Given the description of an element on the screen output the (x, y) to click on. 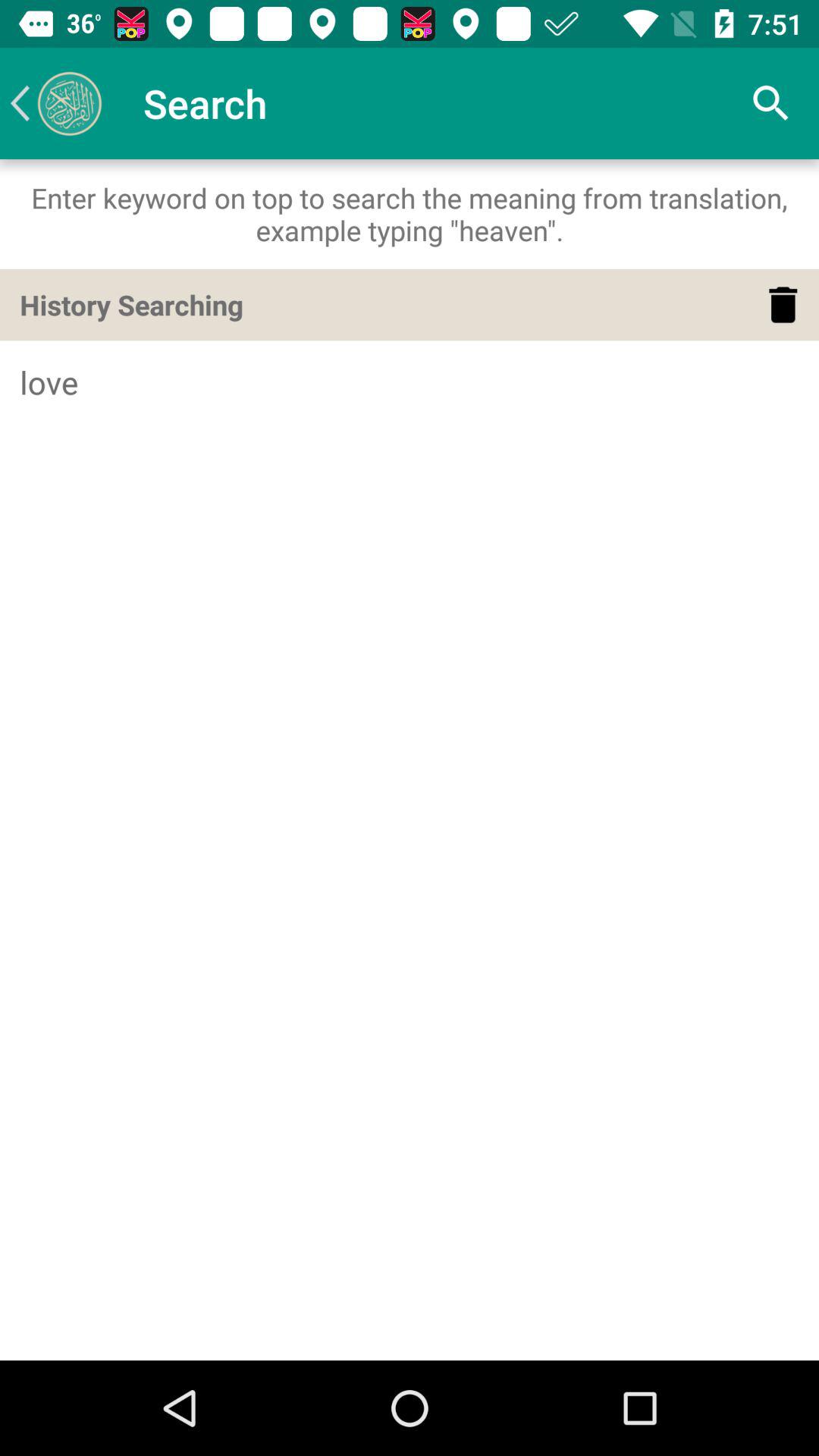
press the icon above the enter keyword on (55, 103)
